Given the description of an element on the screen output the (x, y) to click on. 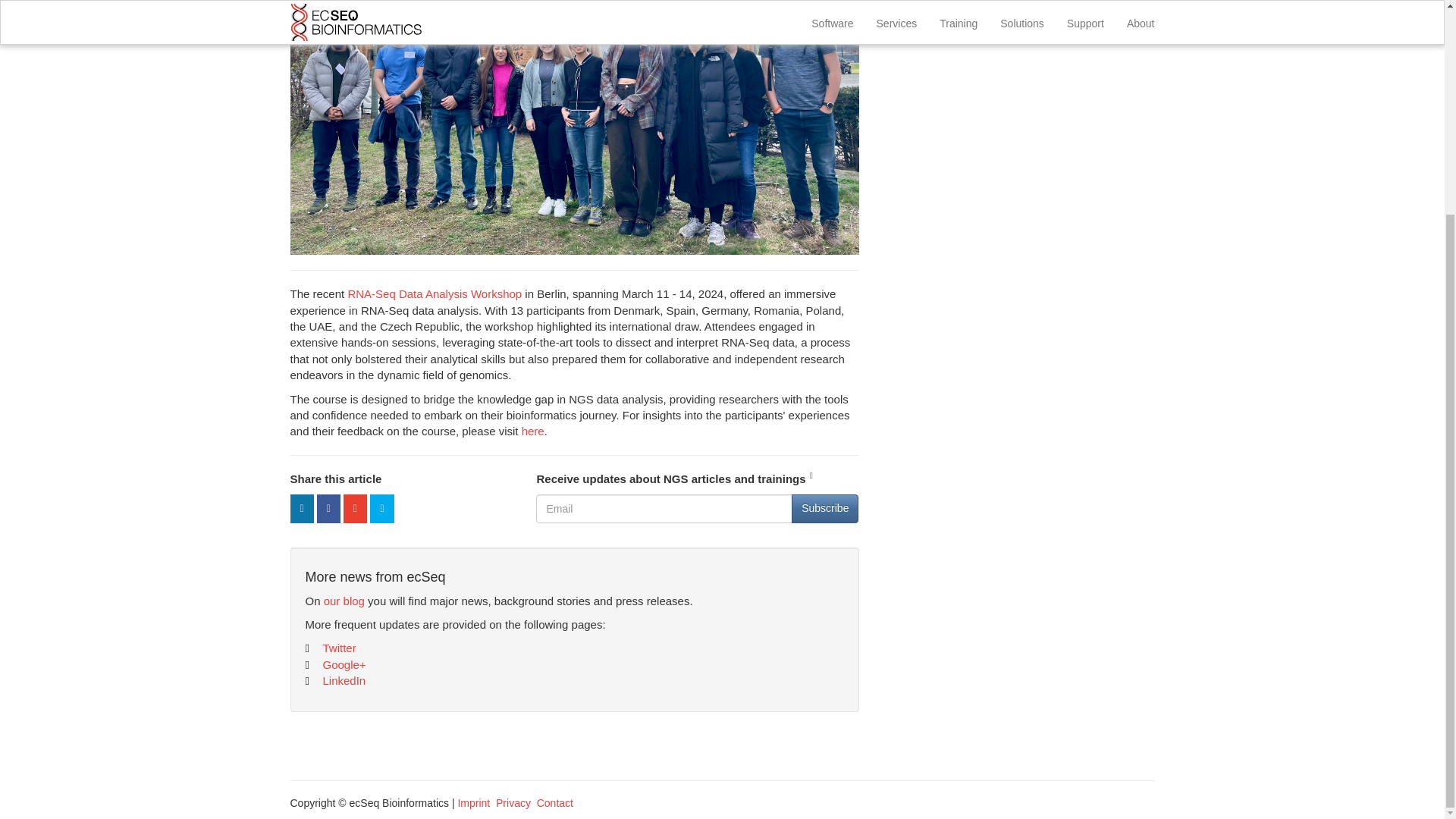
our blog (344, 600)
LinkedIn (334, 680)
here (532, 431)
RNA-Seq Data Analysis Workshop (434, 293)
Subscribe (825, 508)
Twitter (329, 647)
